Given the description of an element on the screen output the (x, y) to click on. 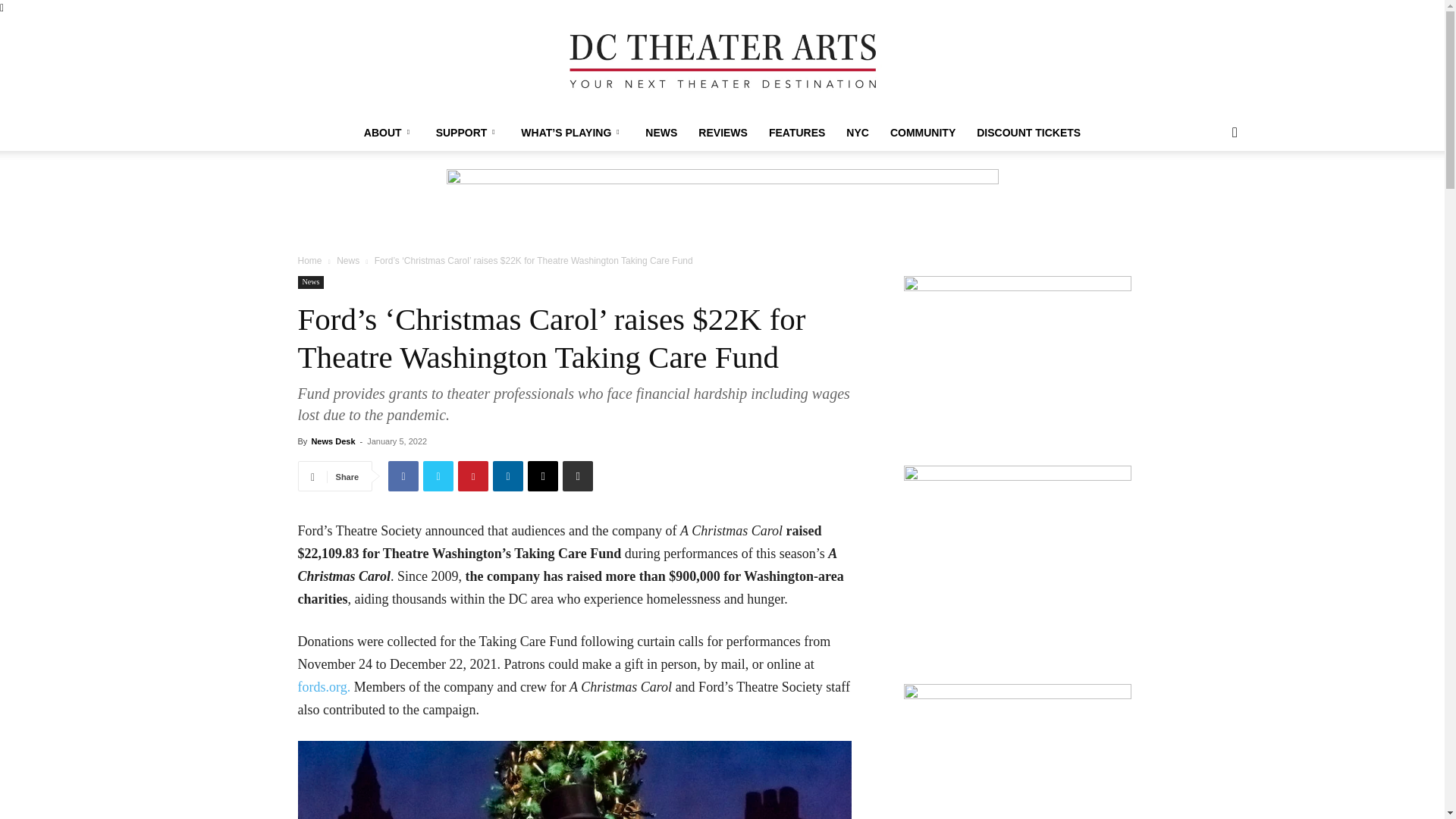
ABOUT (389, 132)
View all posts in News (347, 260)
Email (542, 476)
Pinterest (472, 476)
NEWS (660, 132)
REVIEWS (722, 132)
Print (577, 476)
Twitter (437, 476)
SUPPORT (468, 132)
Facebook (403, 476)
Linkedin (507, 476)
